Given the description of an element on the screen output the (x, y) to click on. 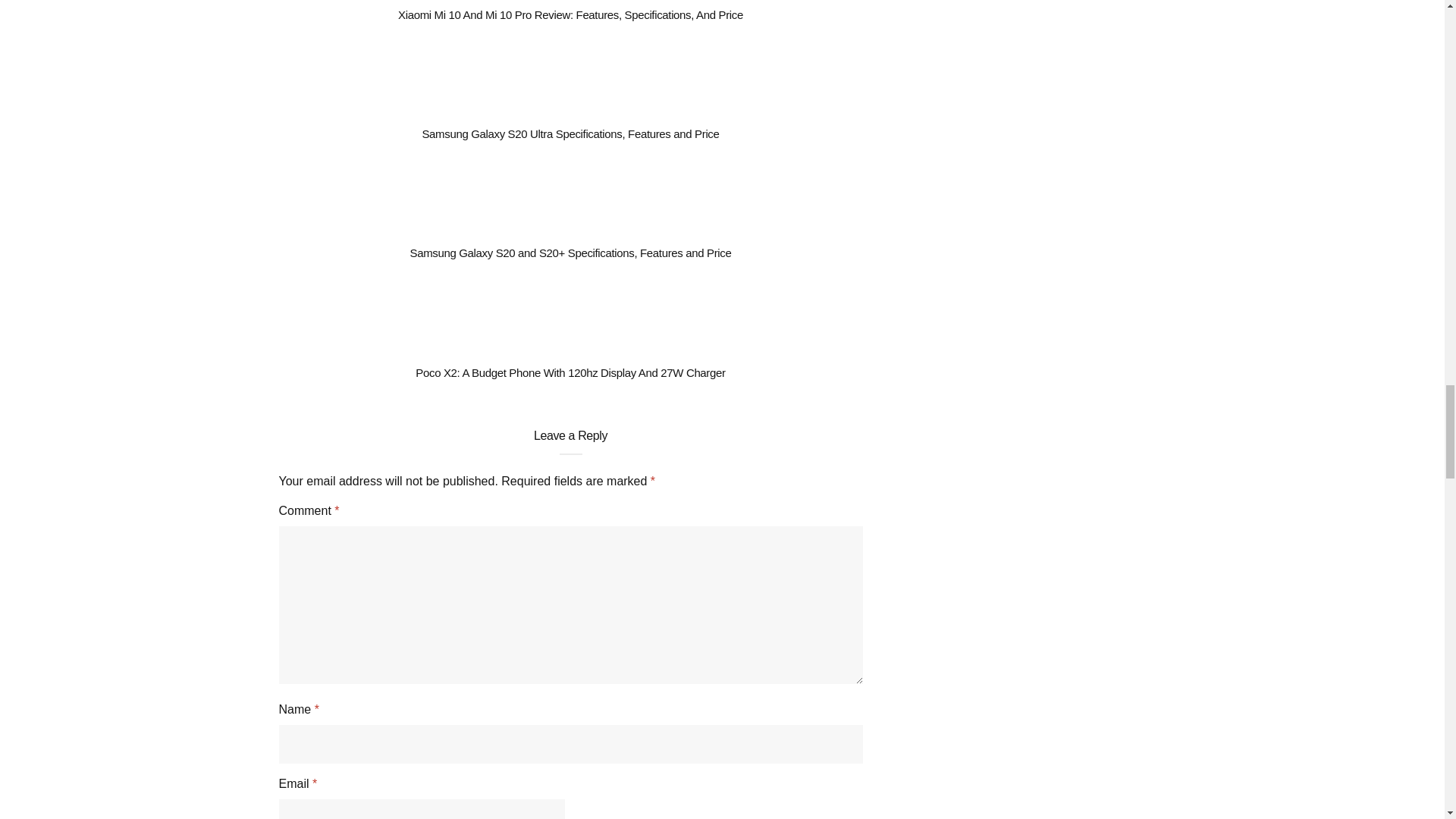
Samsung Galaxy S20 Ultra Specifications, Features and Price (570, 133)
Poco X2: A Budget Phone With 120hz Display And 27W Charger (569, 372)
Advertisement (1031, 37)
